Given the description of an element on the screen output the (x, y) to click on. 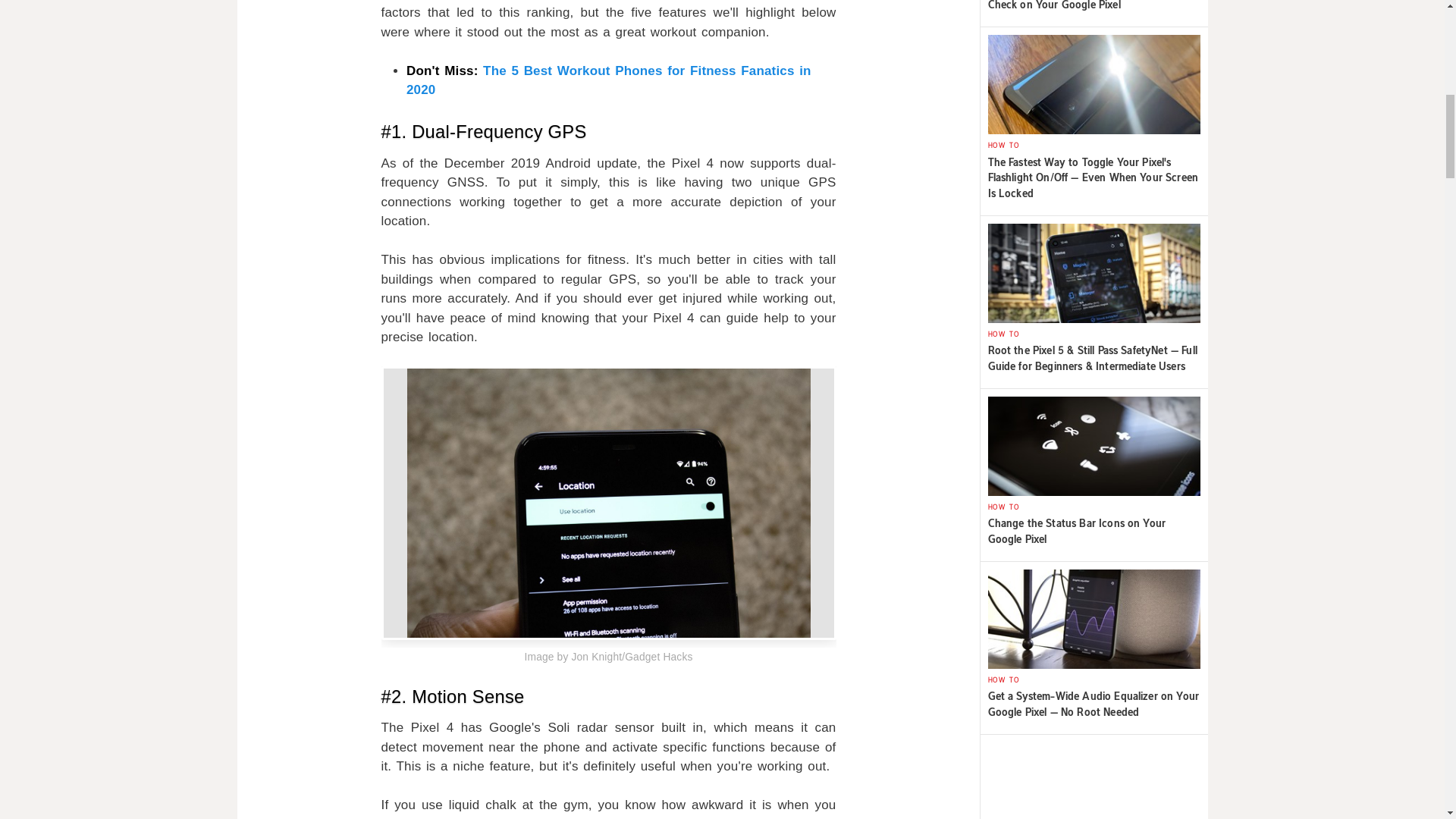
The 5 Best Workout Phones for Fitness Fanatics in 2020 (608, 80)
